Given the description of an element on the screen output the (x, y) to click on. 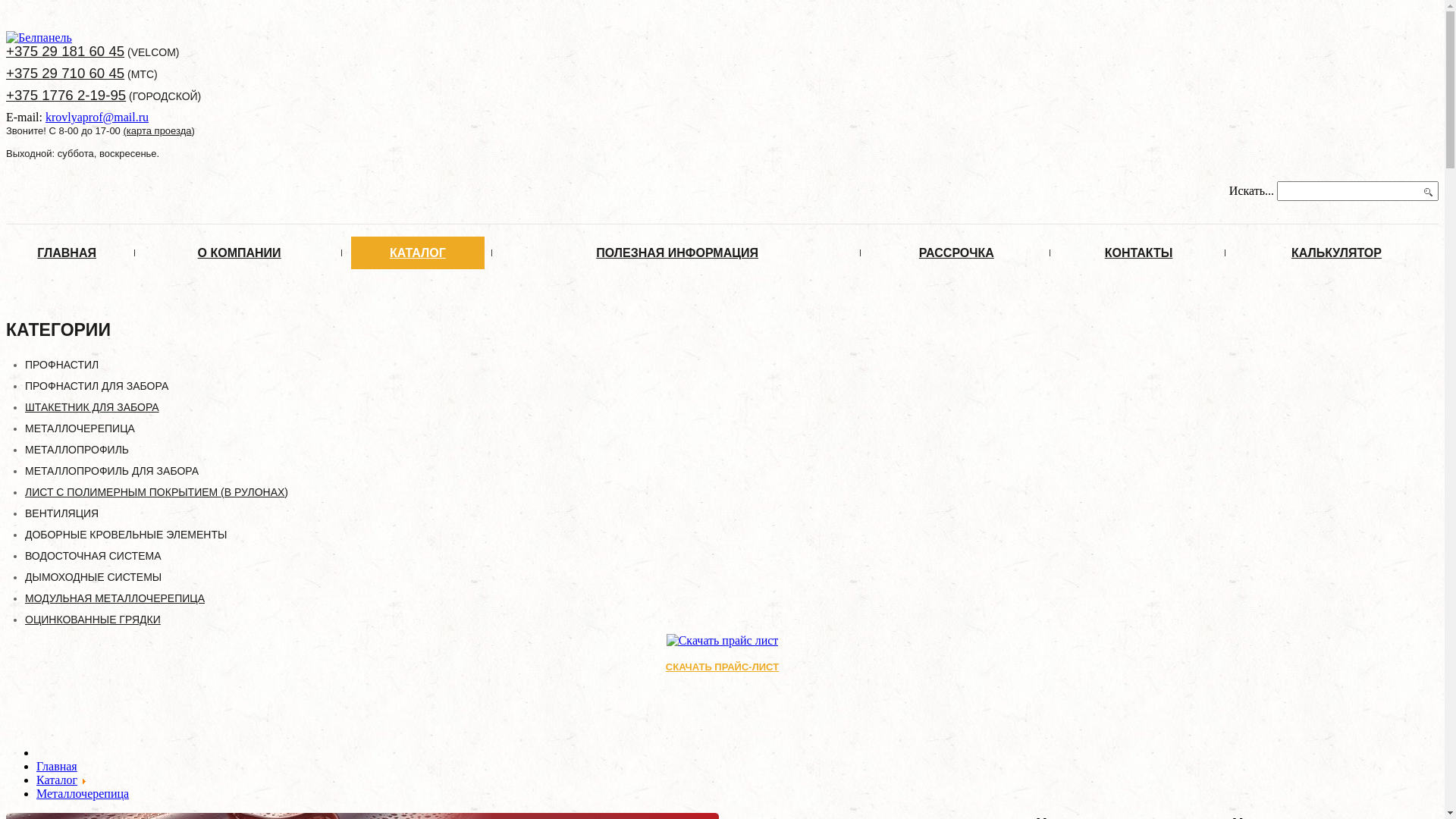
+375 29 710 60 45 Element type: text (65, 73)
krovlyaprof@mail.ru Element type: text (96, 116)
+375 1776 2-19-95 Element type: text (65, 95)
+375 29 181 60 45 Element type: text (65, 51)
